Given the description of an element on the screen output the (x, y) to click on. 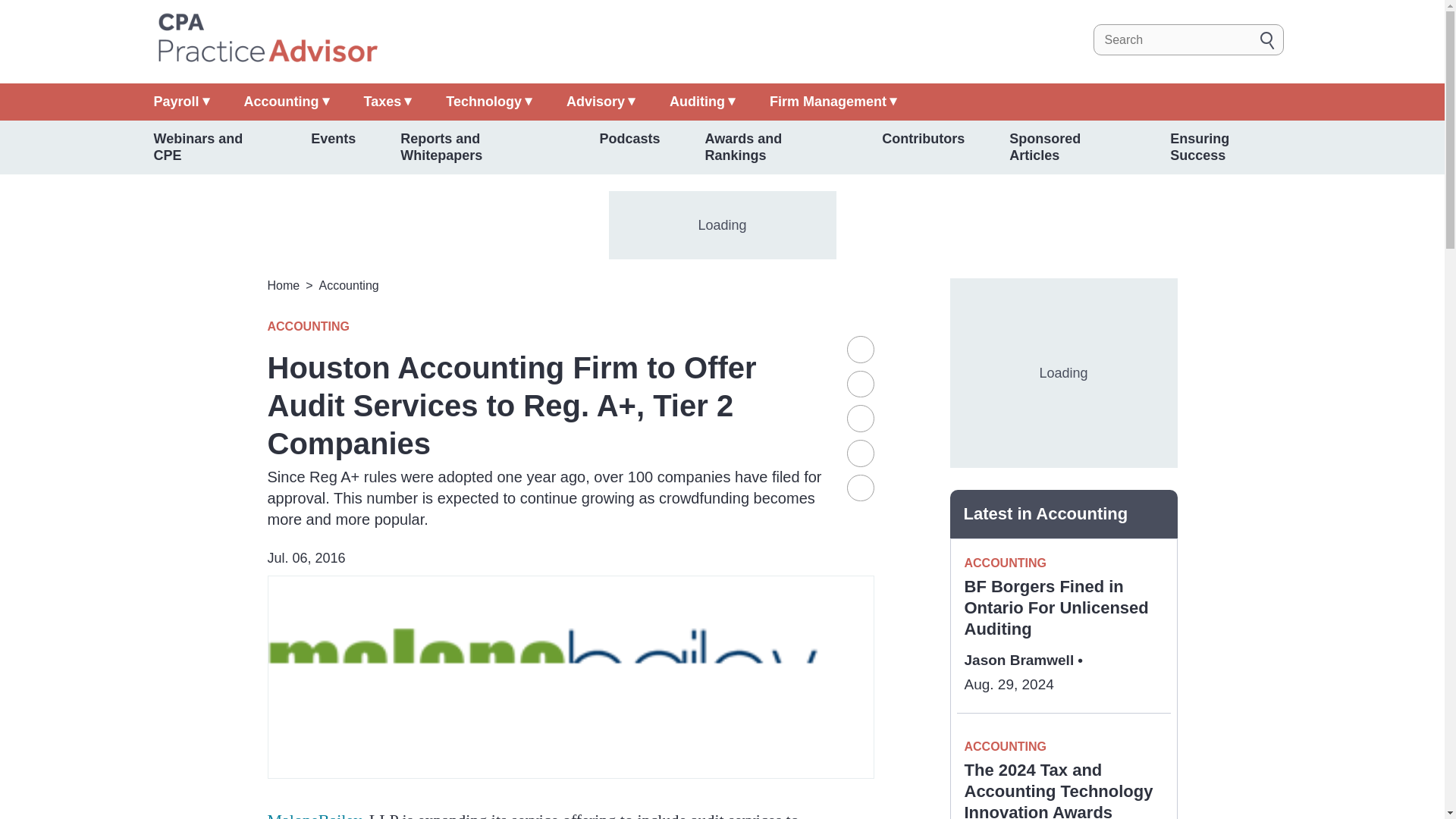
Technology (488, 101)
Advisory (600, 101)
Home (266, 39)
Accounting (287, 101)
Taxes (388, 101)
Payroll (180, 101)
Auditing (702, 101)
